Given the description of an element on the screen output the (x, y) to click on. 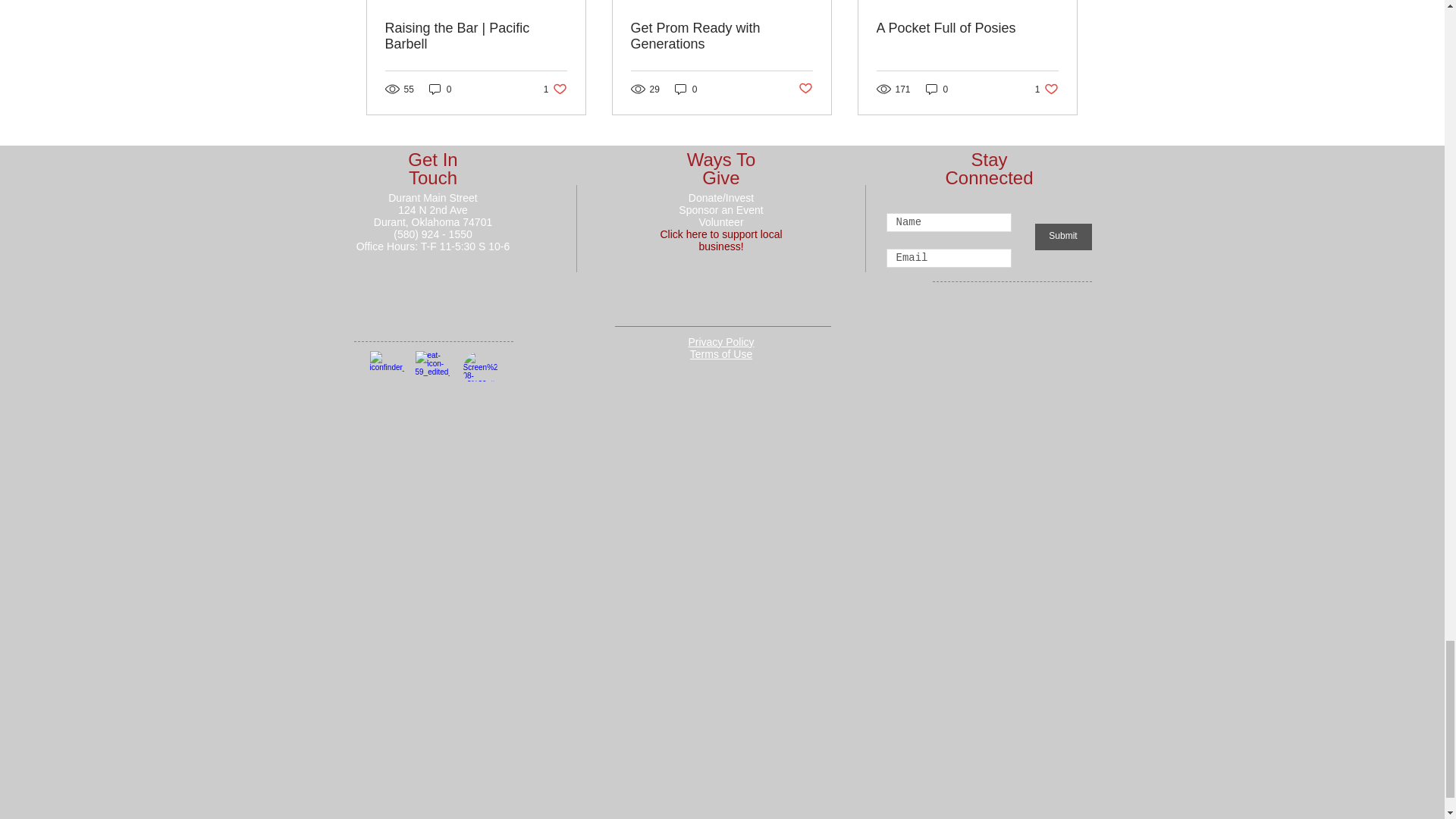
0 (440, 88)
